Given the description of an element on the screen output the (x, y) to click on. 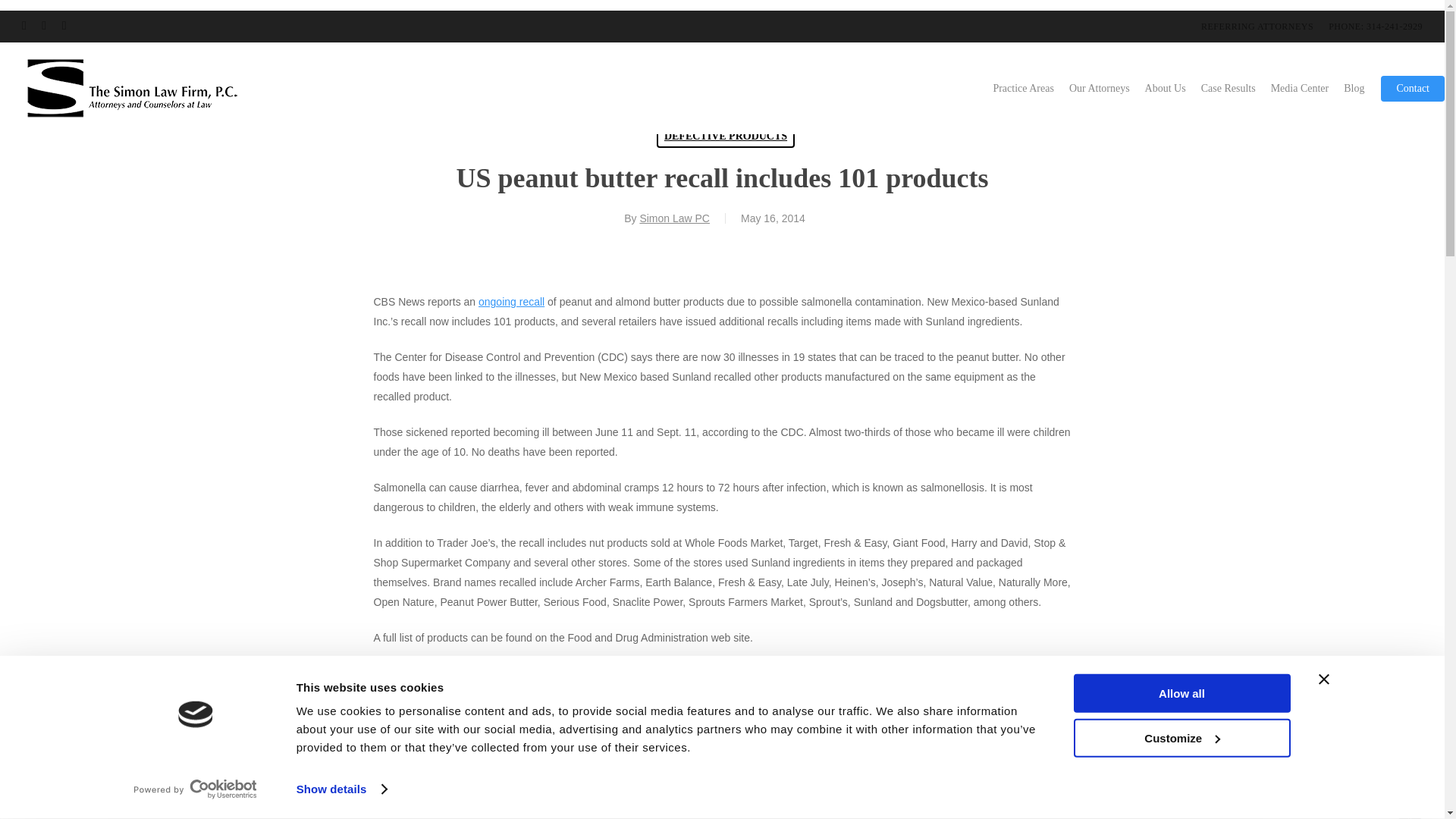
Show details (341, 789)
Posts by Simon Law PC (674, 218)
